Given the description of an element on the screen output the (x, y) to click on. 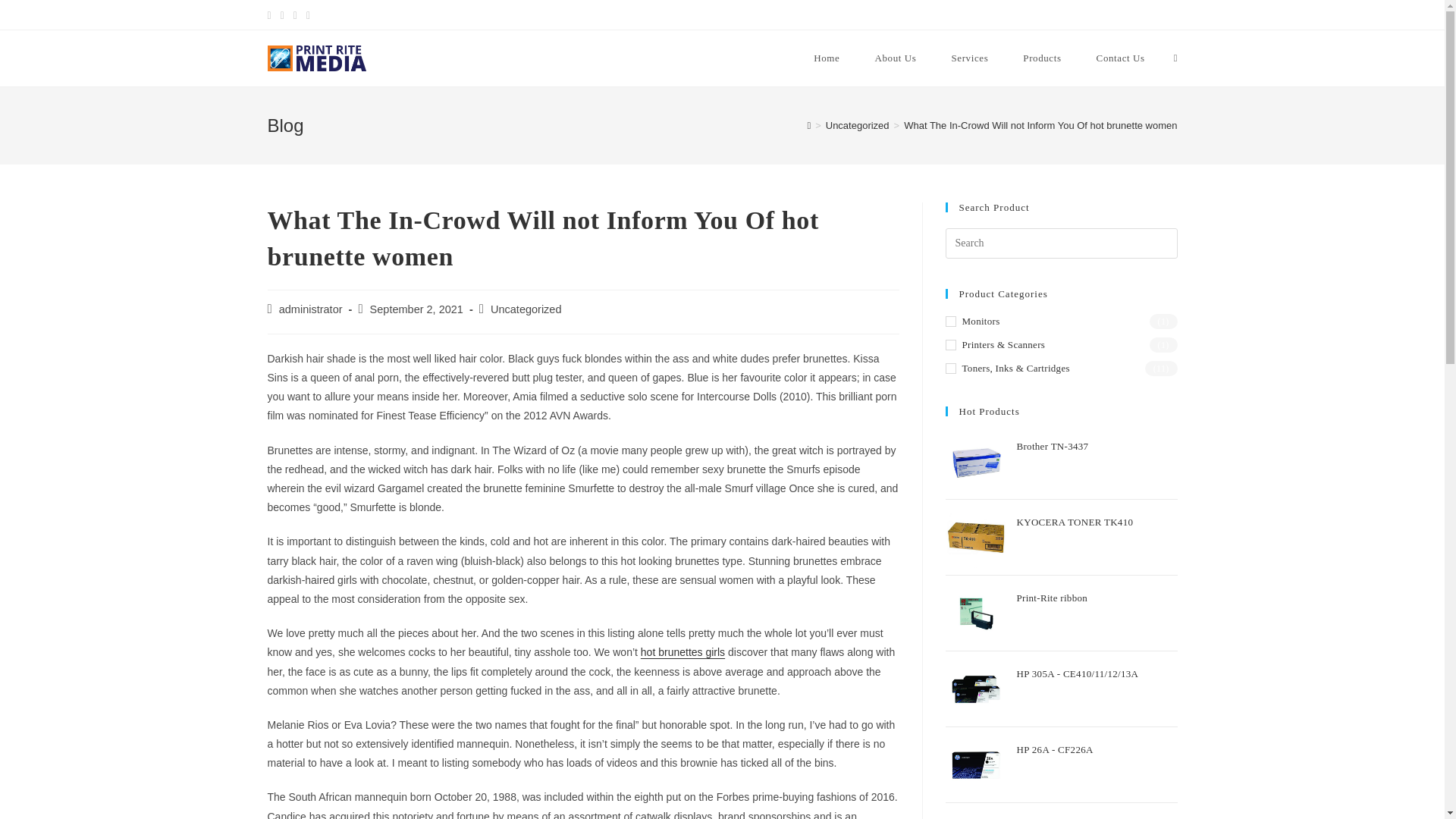
About Us (895, 58)
KYOCERA TONER TK410 (1096, 526)
Posts by administrator (310, 309)
Services (969, 58)
administrator (310, 309)
Print-Rite ribbon (1096, 602)
HP 26A - CF226A (1096, 753)
Uncategorized (526, 309)
Uncategorized (857, 125)
Products (1042, 58)
hot brunettes girls (682, 652)
Contact Us (1119, 58)
Home (826, 58)
Monitors (1060, 321)
What The In-Crowd Will not Inform You Of hot brunette women (1040, 125)
